Given the description of an element on the screen output the (x, y) to click on. 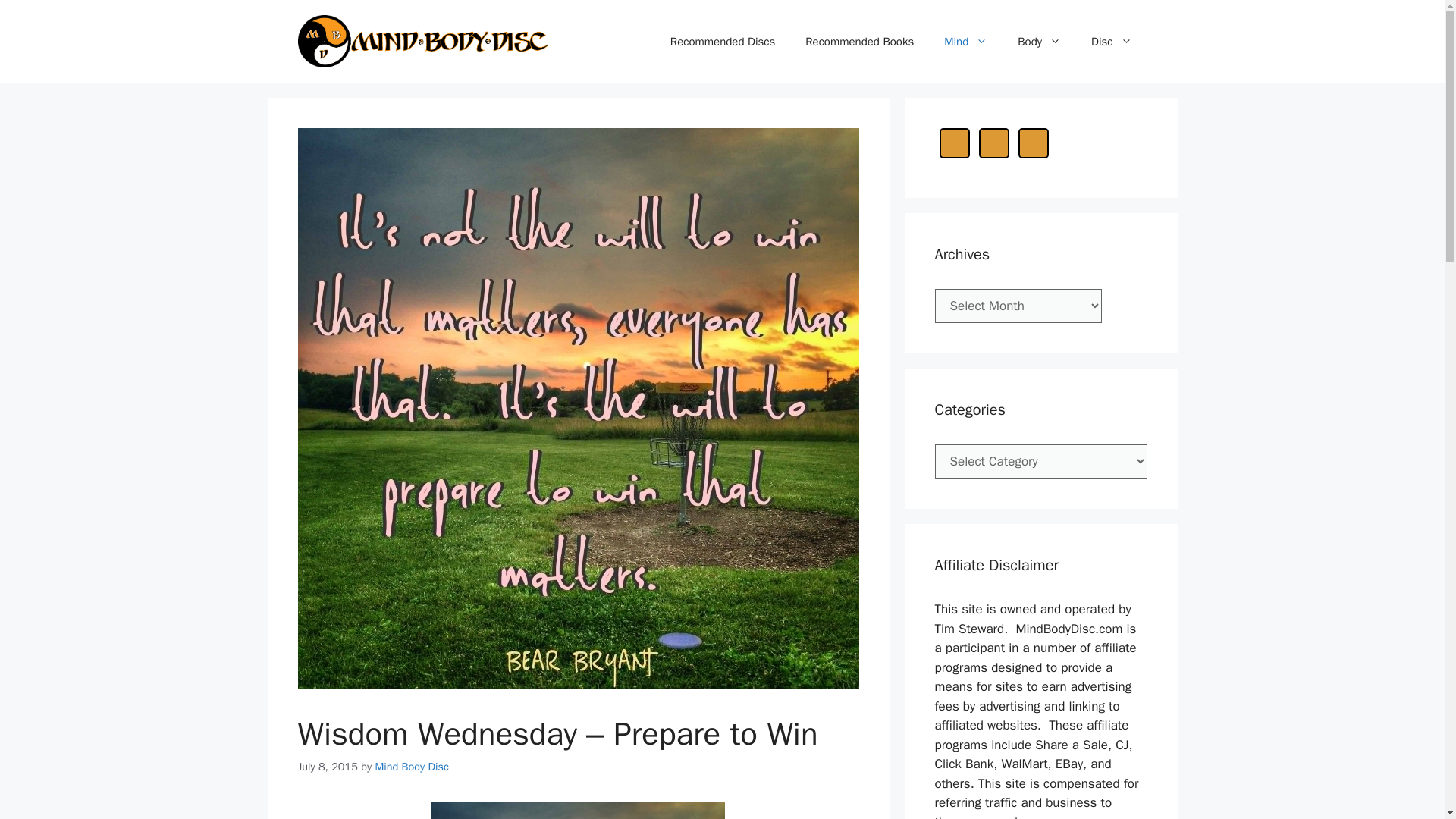
View all posts by Mind Body Disc (411, 766)
Recommended Discs (722, 41)
Disc (1111, 41)
Mind Body Disc (411, 766)
Mind (965, 41)
Recommended Books (859, 41)
Body (1039, 41)
